Given the description of an element on the screen output the (x, y) to click on. 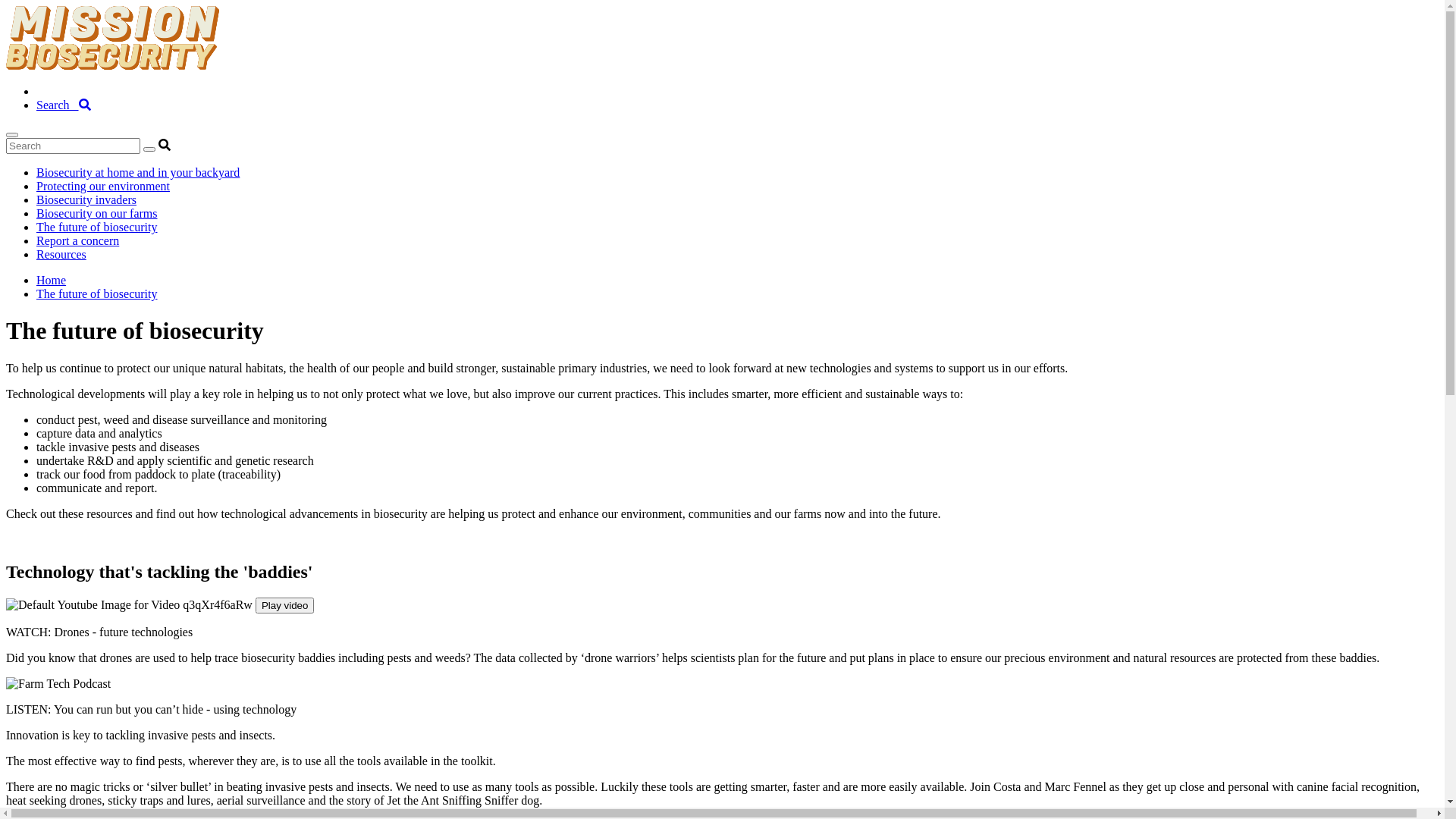
Report a concern Element type: text (77, 240)
Play video Element type: text (284, 605)
Biosecurity at home and in your backyard Element type: text (137, 172)
Navbar search Element type: hover (722, 145)
Biosecurity invaders Element type: text (86, 199)
Resources Element type: text (61, 253)
Skip to content Element type: text (5, 5)
Biosecurity on our farms Element type: text (96, 213)
Search   Element type: text (63, 104)
The future of biosecurity Element type: text (96, 293)
Protecting our environment Element type: text (102, 185)
Resources Element type: text (61, 90)
Home Element type: text (50, 279)
The future of biosecurity Element type: text (96, 226)
